Given the description of an element on the screen output the (x, y) to click on. 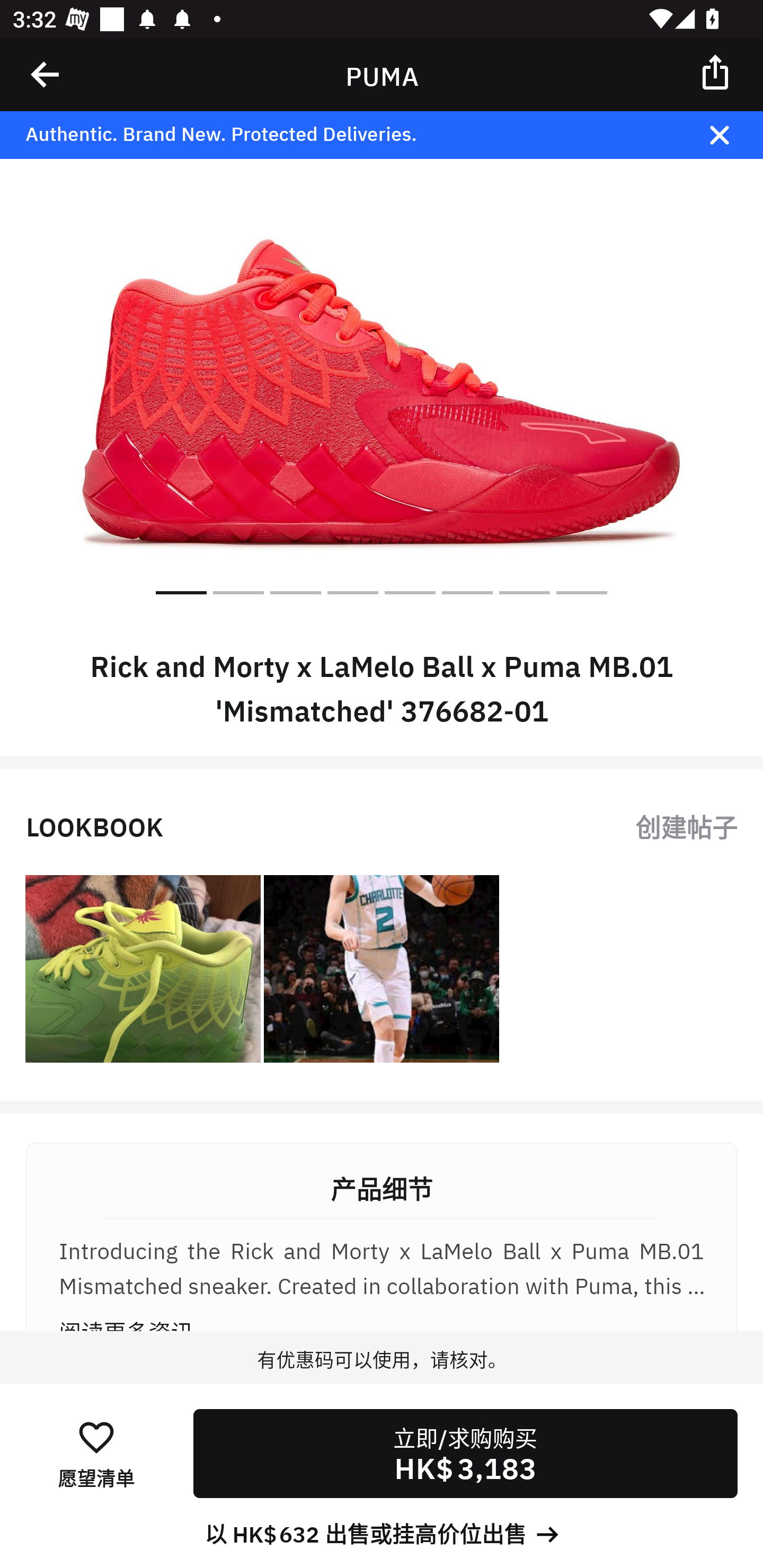
 (46, 74)
 (716, 70)
Authentic. Brand New. Protected Deliveries. (350, 134)
 (732, 134)
创建帖子 (685, 825)
有优惠码可以使用，请核对。 (381, 1377)
立即/求购购买 HK$ 3,183 (465, 1453)
󰋕 (95, 1435)
以 HK$ 632 出售或挂高价位出售 (381, 1532)
